Given the description of an element on the screen output the (x, y) to click on. 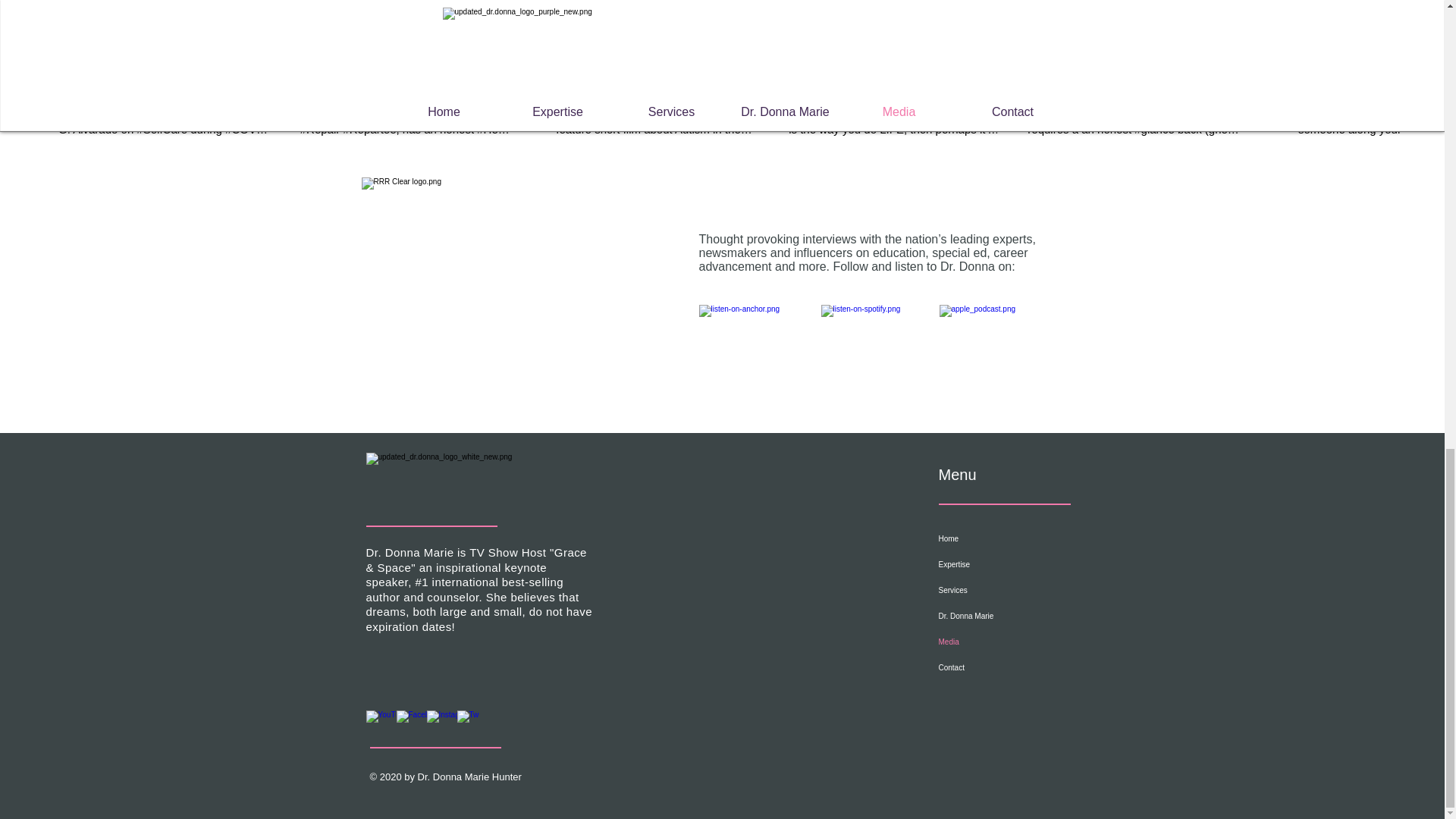
Services (1010, 590)
"Colored My Mind: Diagnosis" Movie Trailer (647, 82)
Media (1010, 642)
Dr. Donna Marie (1010, 616)
Home (1010, 539)
Expertise (1010, 565)
